Given the description of an element on the screen output the (x, y) to click on. 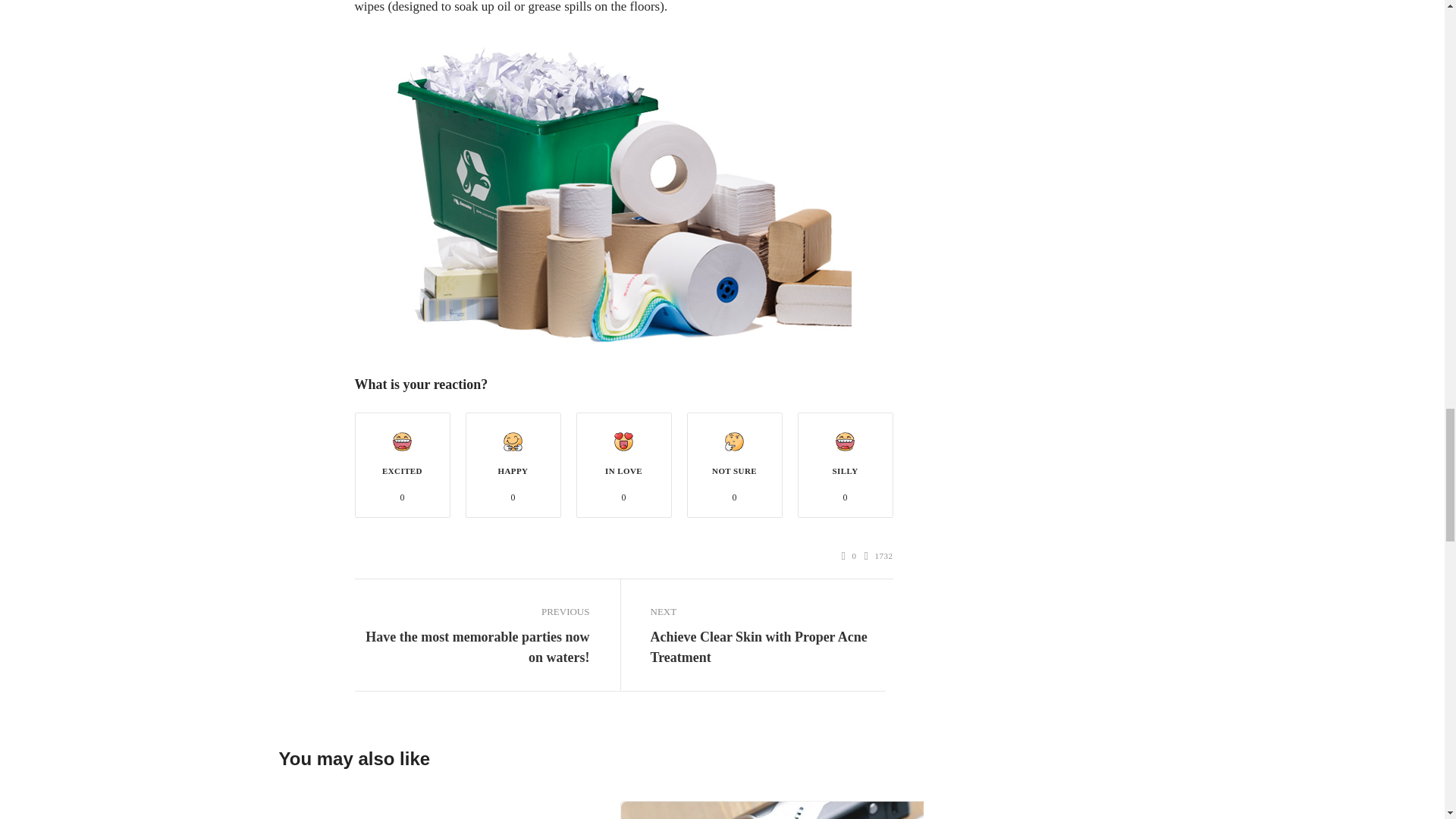
0 (849, 555)
1732 (878, 555)
PREVIOUS (472, 611)
Have the most memorable parties now on waters! (472, 647)
